Given the description of an element on the screen output the (x, y) to click on. 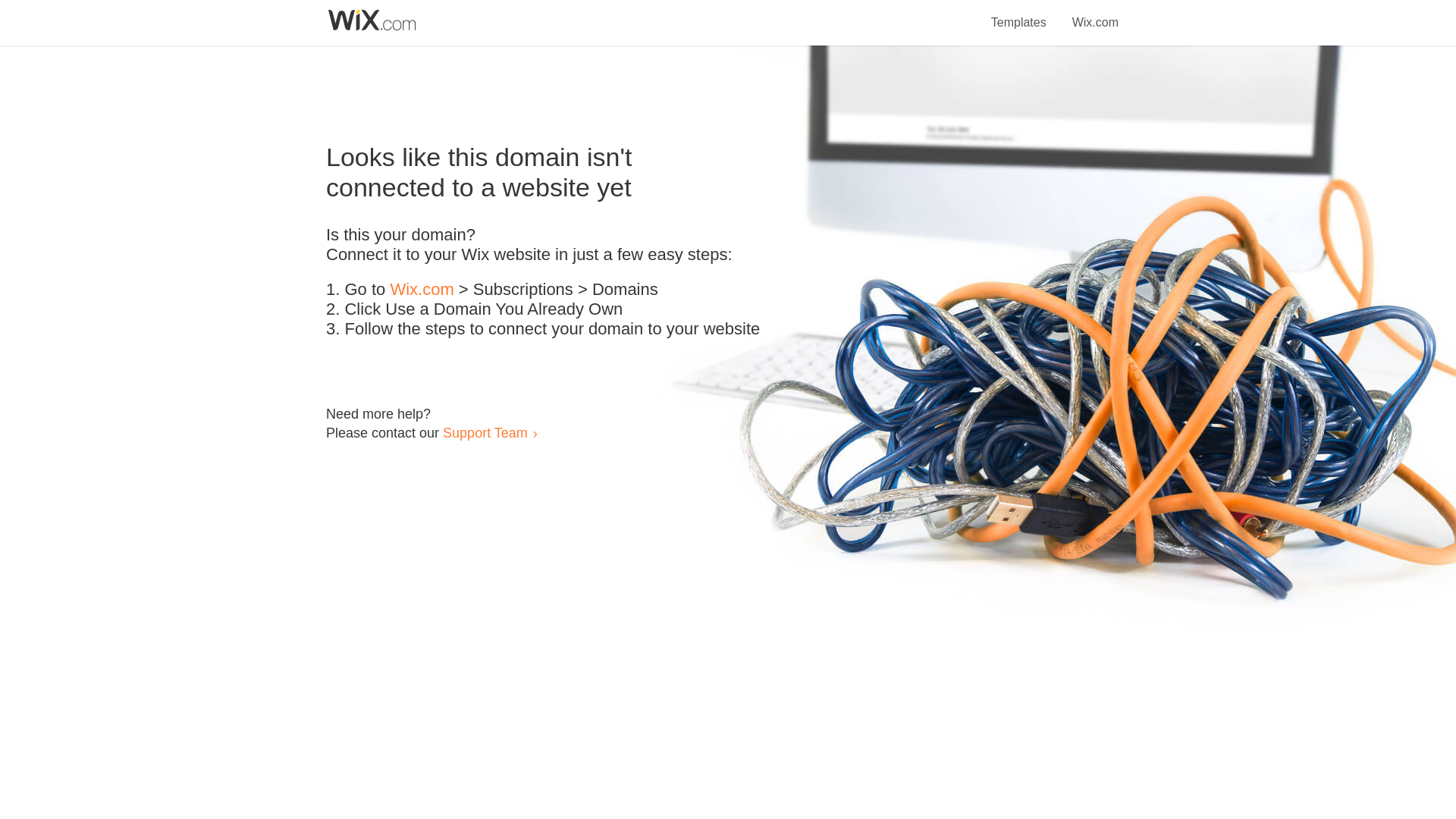
Support Team (484, 432)
Templates (1018, 14)
Wix.com (1095, 14)
Wix.com (421, 289)
